Given the description of an element on the screen output the (x, y) to click on. 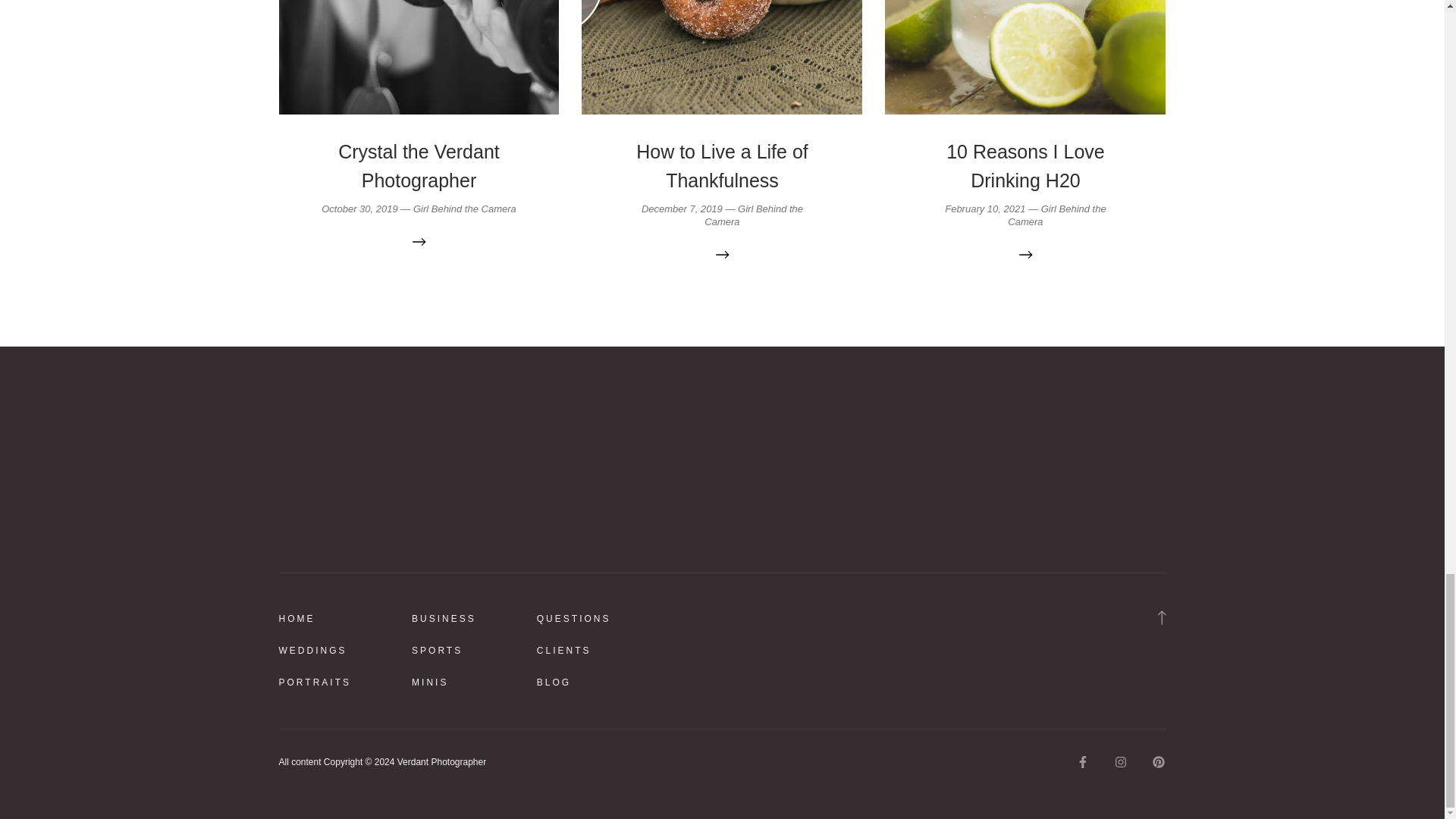
Girl Behind the Camera (753, 215)
Girl Behind the Camera (464, 208)
Girl Behind the Camera (1056, 215)
